Given the description of an element on the screen output the (x, y) to click on. 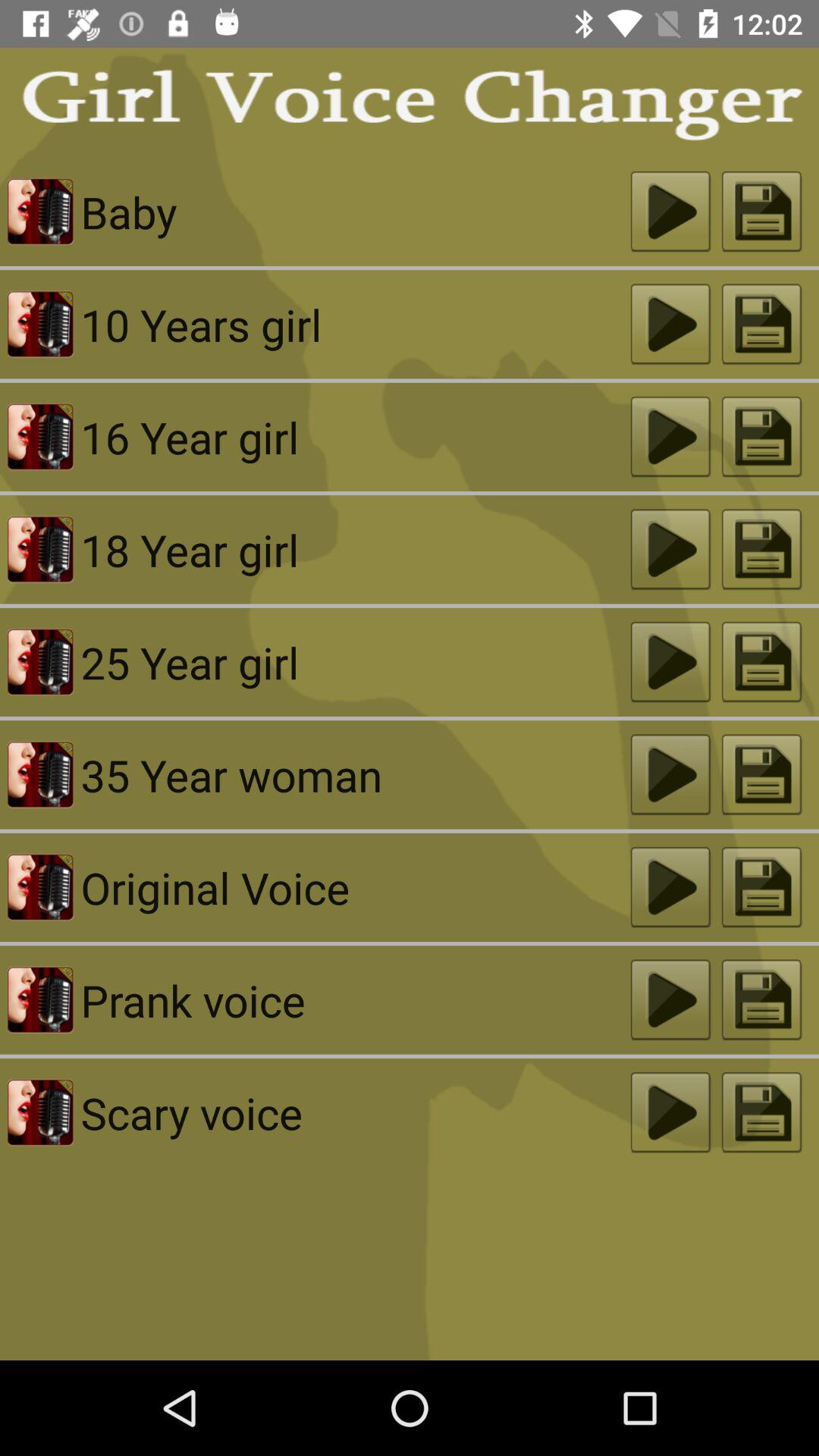
scroll to 10 years girl  item (355, 324)
